Given the description of an element on the screen output the (x, y) to click on. 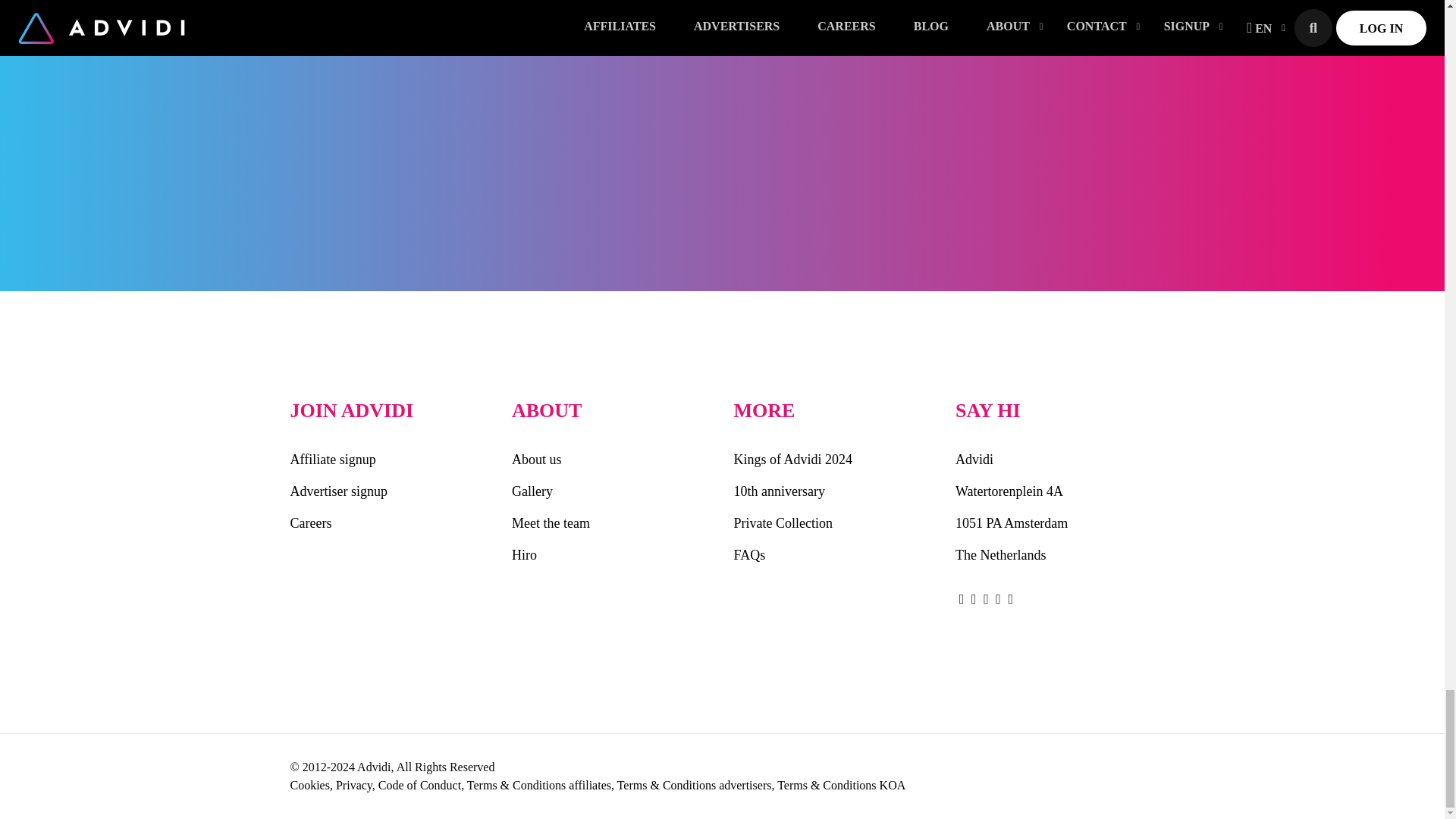
About us (611, 459)
Careers (389, 522)
Advertiser signup (389, 490)
Affiliate signup (389, 459)
